Given the description of an element on the screen output the (x, y) to click on. 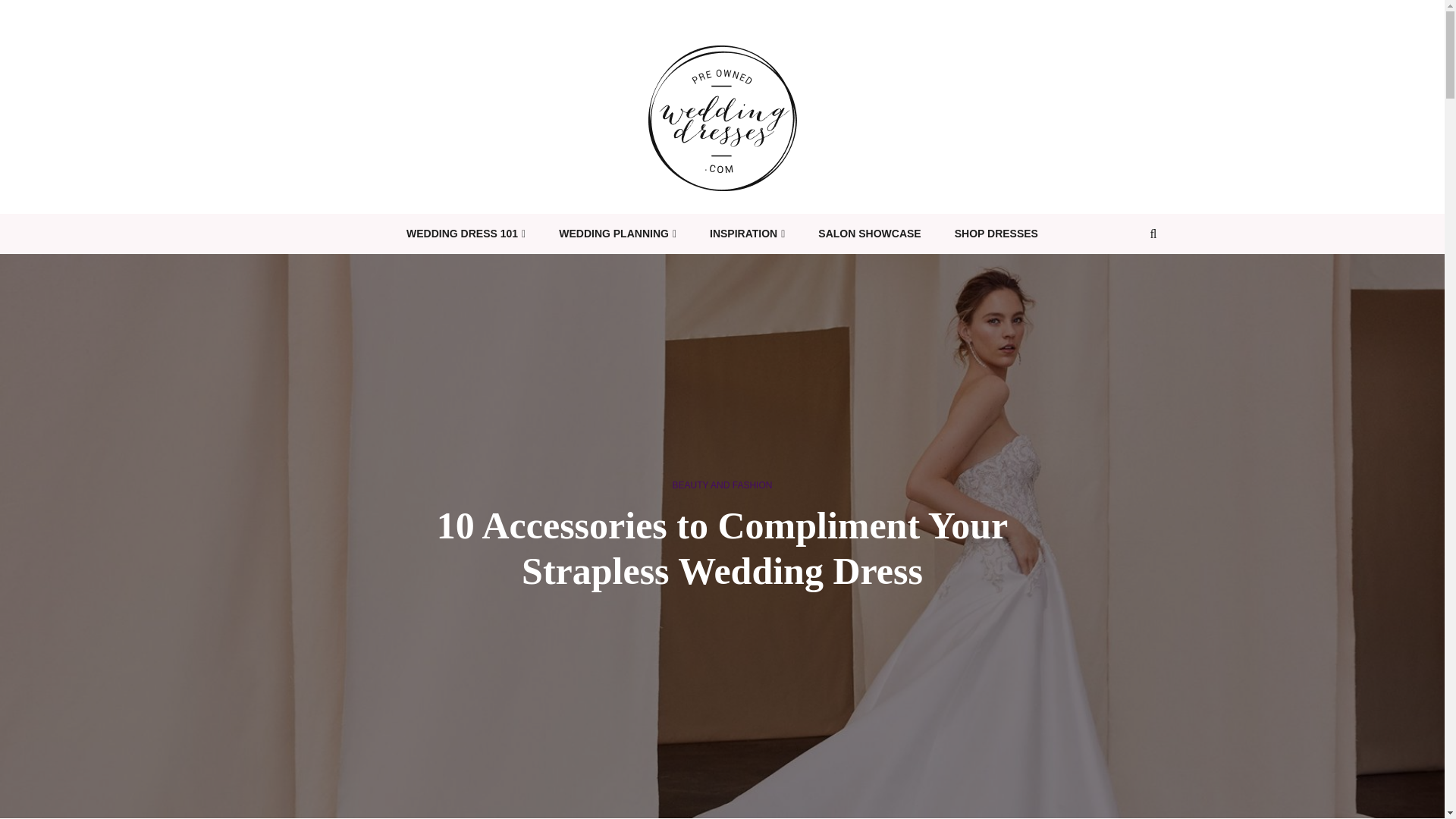
SHOP DRESSES (995, 233)
INSPIRATION (747, 233)
SALON SHOWCASE (869, 233)
WEDDING PLANNING (617, 233)
WEDDING DRESS 101 (465, 233)
BEAUTY AND FASHION (722, 485)
